Given the description of an element on the screen output the (x, y) to click on. 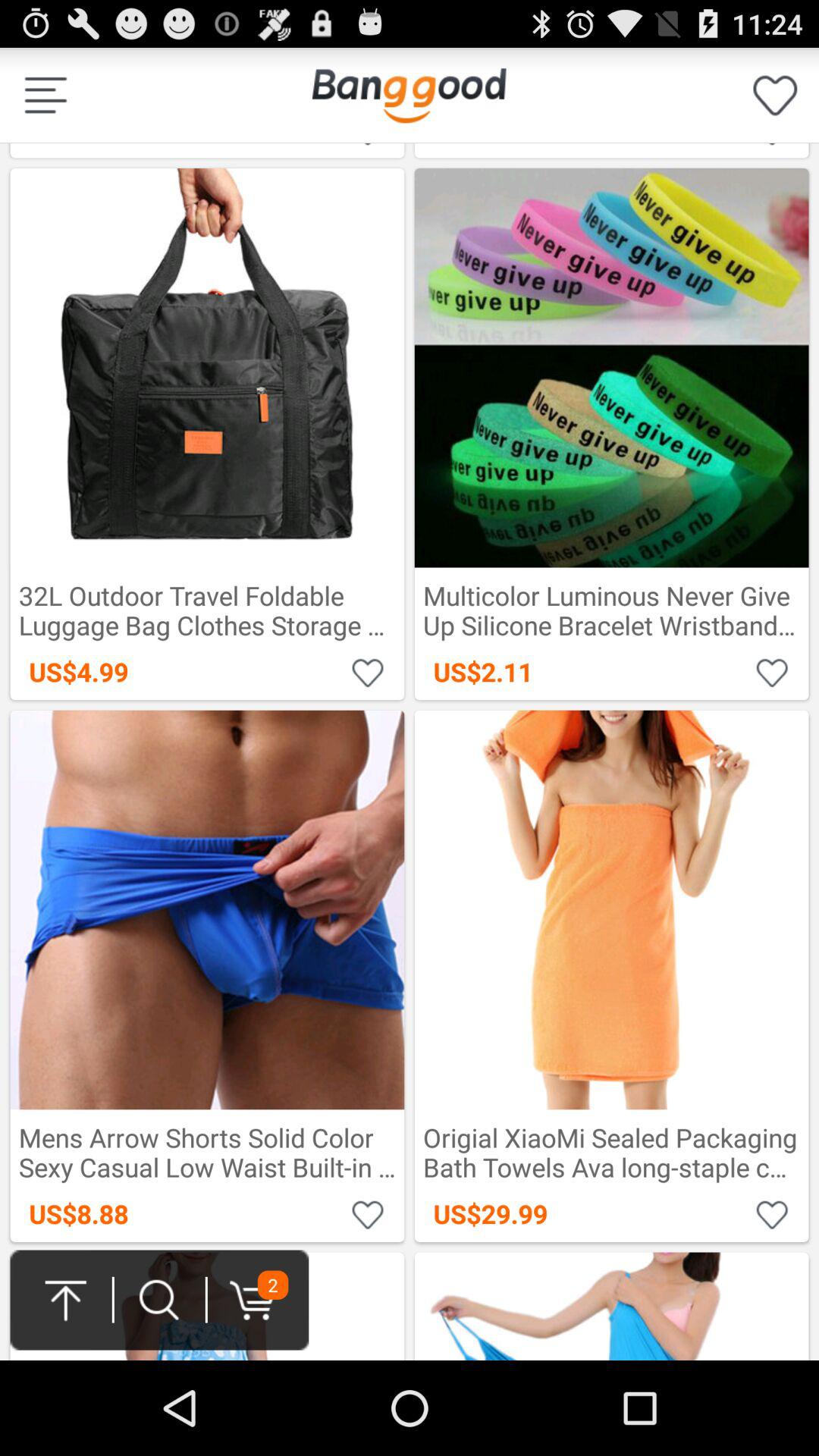
favorite (772, 671)
